Given the description of an element on the screen output the (x, y) to click on. 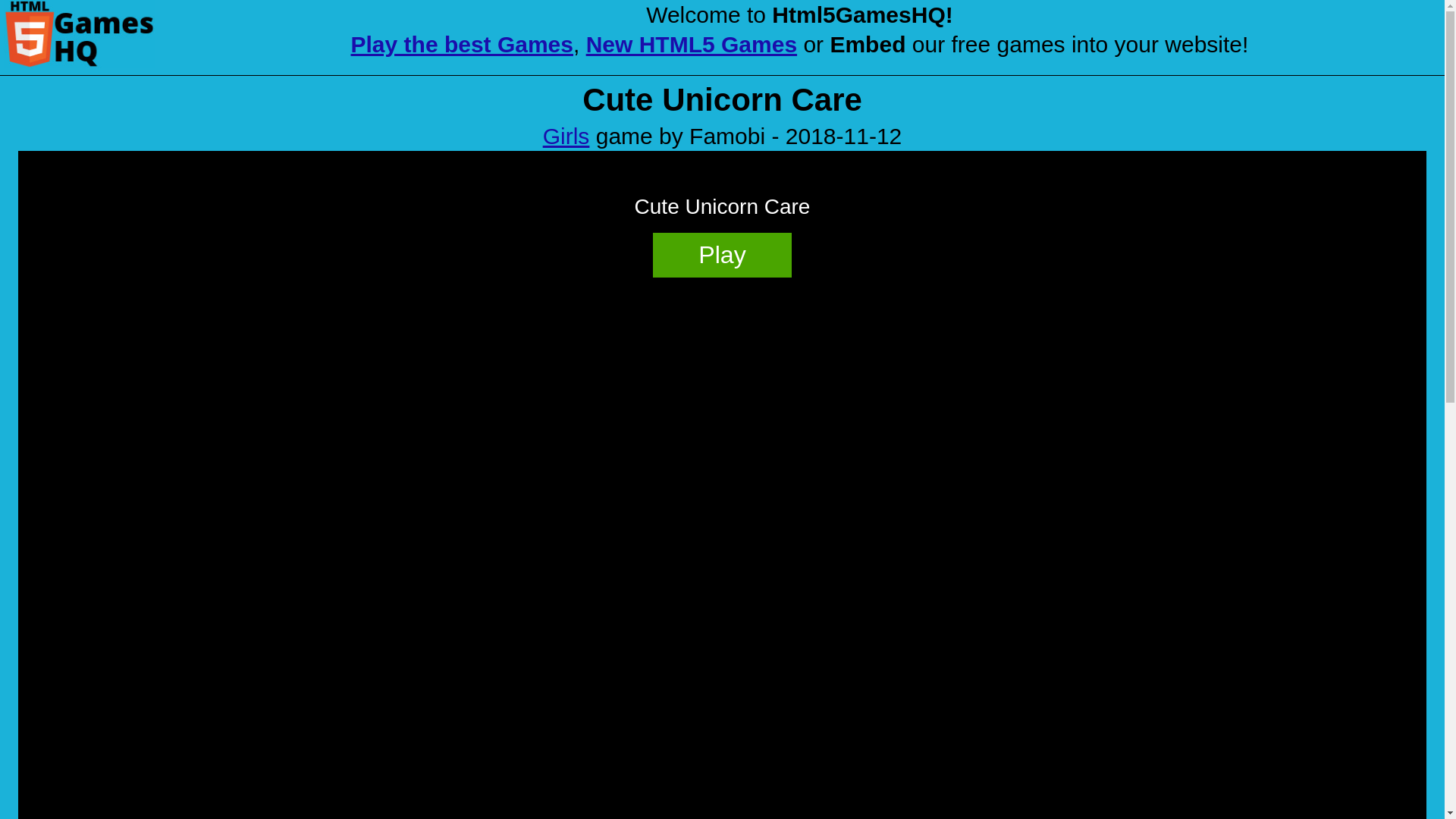
Html5 Game Index (79, 33)
Girls (566, 135)
New HTML5 Games (691, 43)
Play the best Games (461, 43)
